Given the description of an element on the screen output the (x, y) to click on. 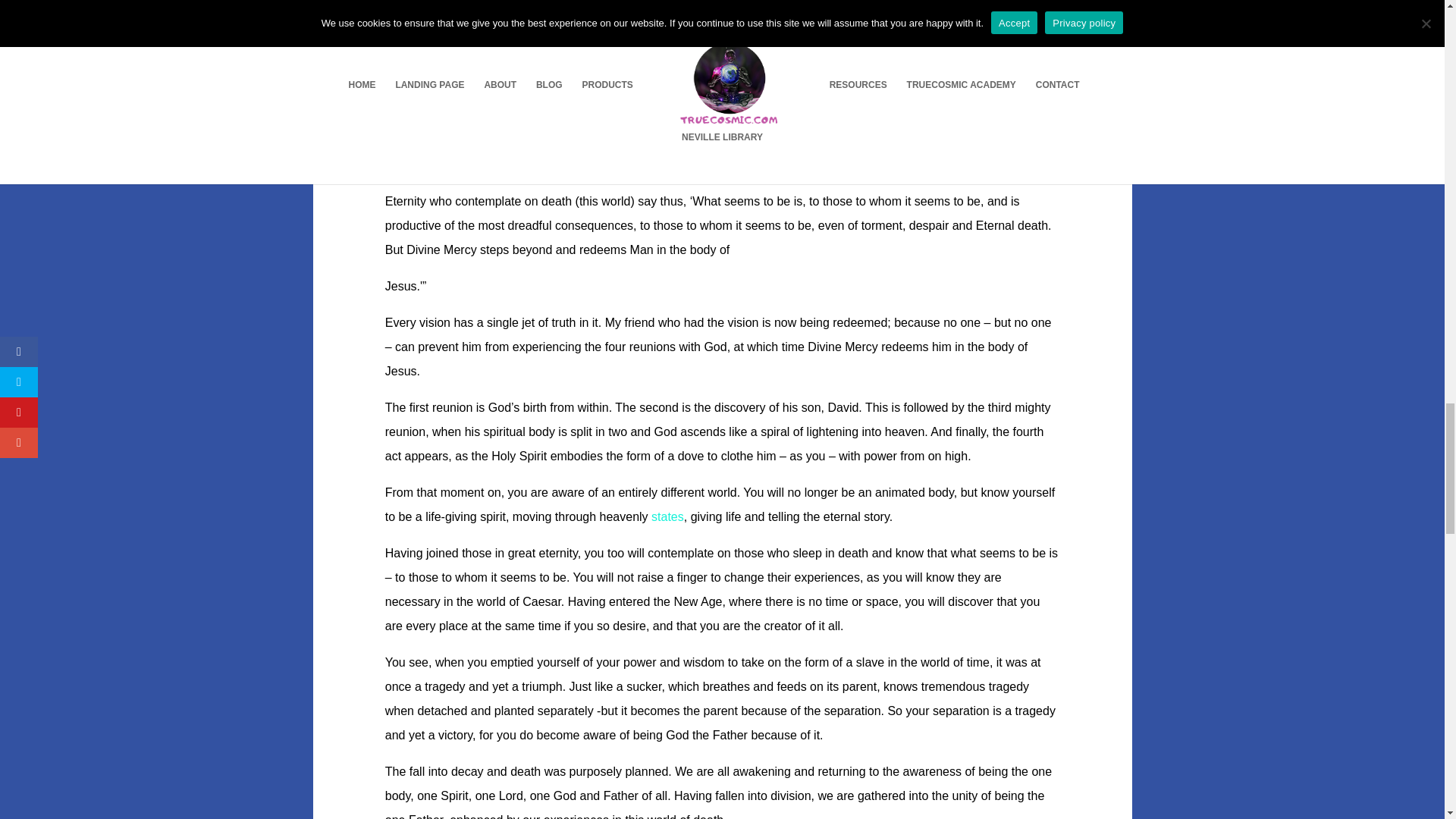
states (667, 516)
Inner State (667, 516)
